Given the description of an element on the screen output the (x, y) to click on. 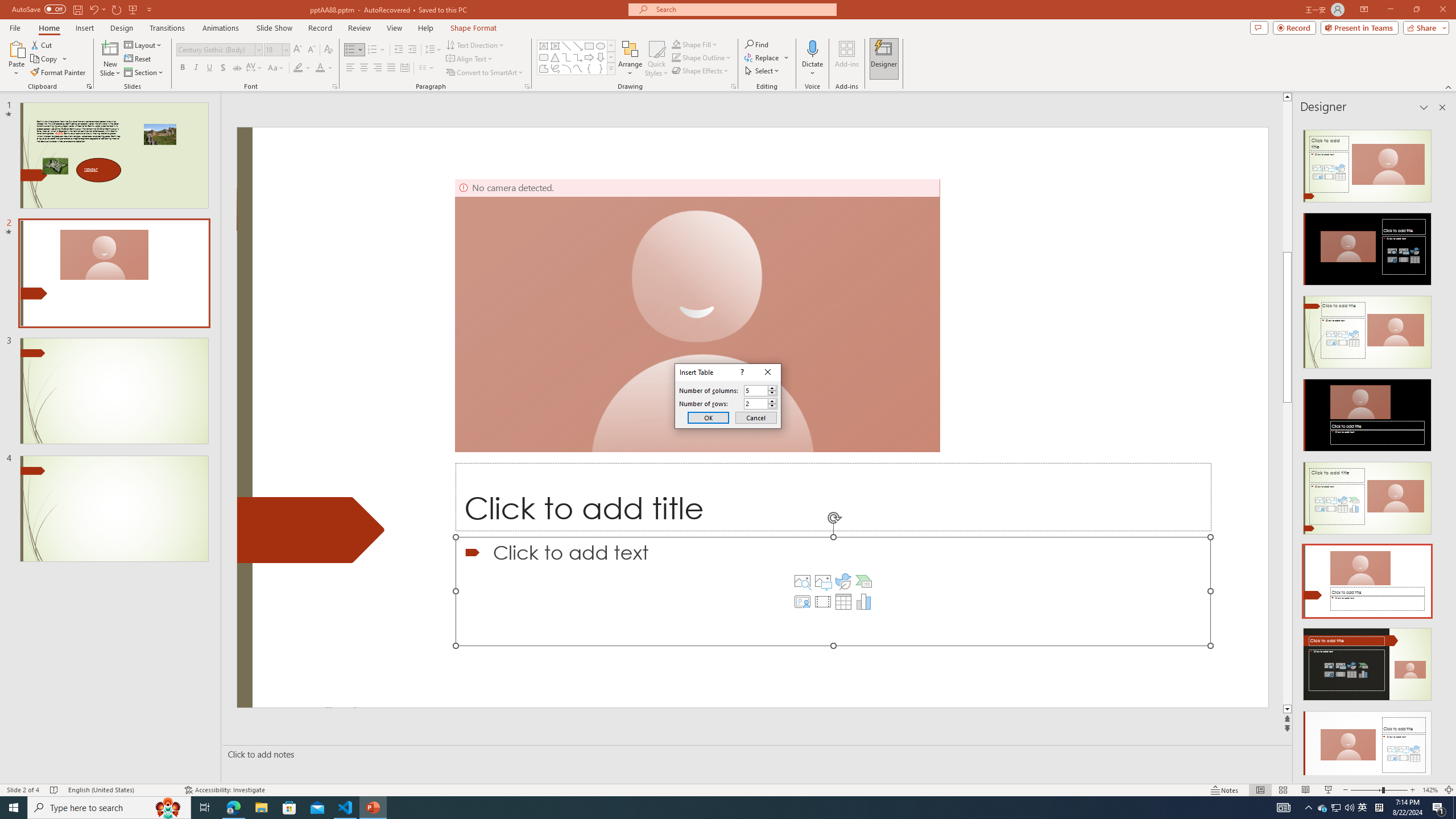
Number of rows (755, 403)
Number of columns (755, 390)
